Given the description of an element on the screen output the (x, y) to click on. 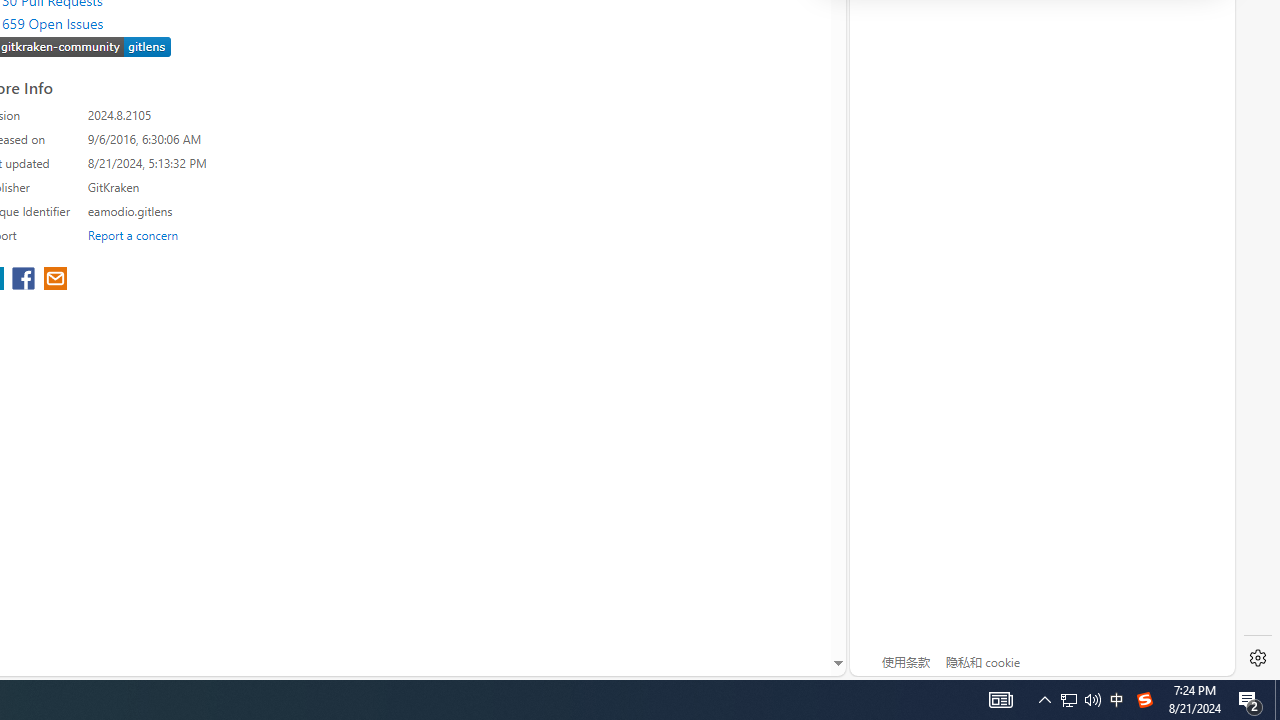
Report a concern (133, 234)
share extension on email (54, 280)
share extension on facebook (26, 280)
